Given the description of an element on the screen output the (x, y) to click on. 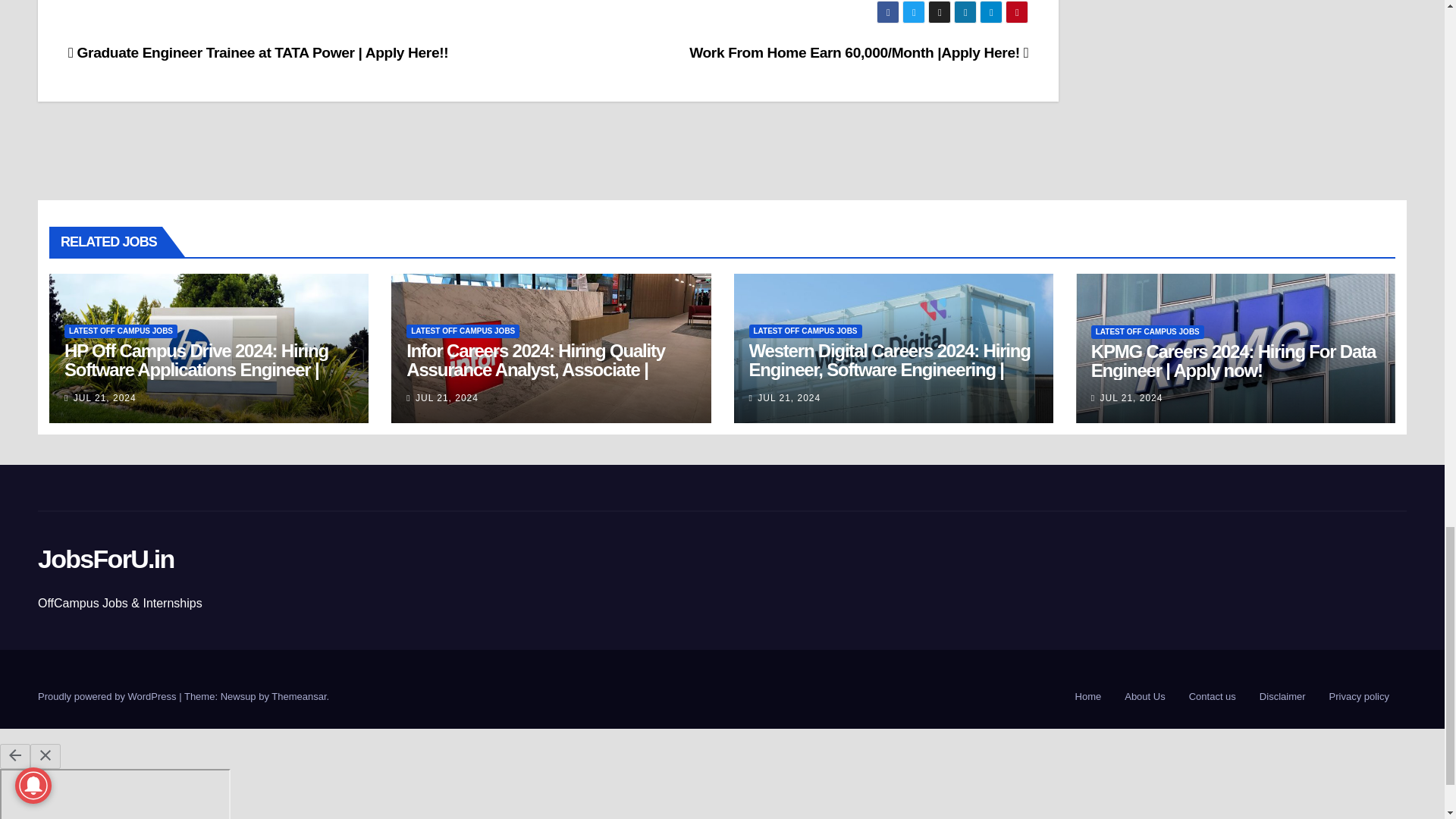
JUL 21, 2024 (446, 398)
JUL 21, 2024 (105, 398)
LATEST OFF CAMPUS JOBS (120, 331)
LATEST OFF CAMPUS JOBS (805, 331)
LATEST OFF CAMPUS JOBS (462, 331)
